Given the description of an element on the screen output the (x, y) to click on. 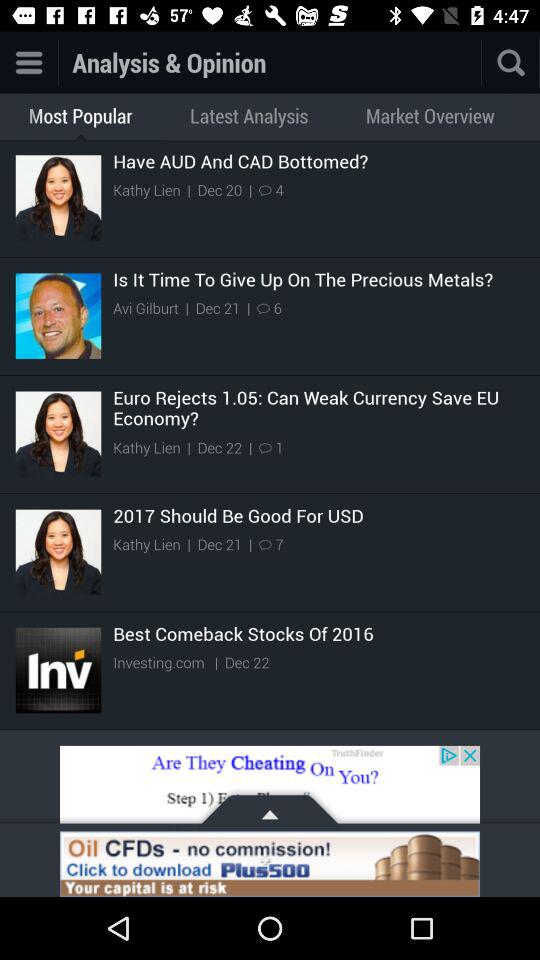
click to search box (481, 62)
